Given the description of an element on the screen output the (x, y) to click on. 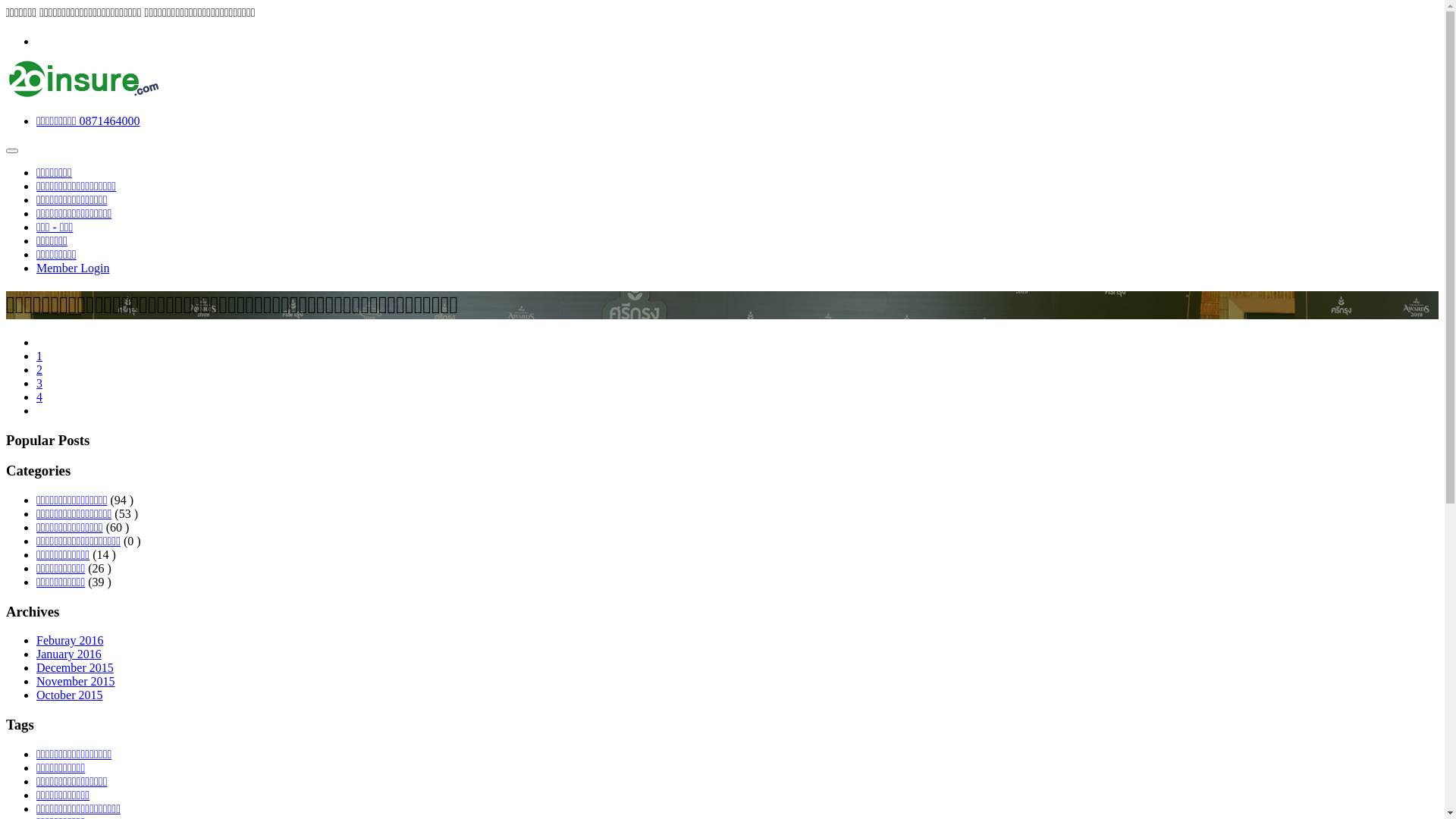
November 2015 Element type: text (75, 680)
1 Element type: text (39, 355)
October 2015 Element type: text (69, 694)
Member Login Element type: text (72, 267)
Feburay 2016 Element type: text (69, 639)
December 2015 Element type: text (74, 667)
2 Element type: text (39, 369)
3 Element type: text (39, 382)
January 2016 Element type: text (68, 653)
4 Element type: text (39, 396)
